Given the description of an element on the screen output the (x, y) to click on. 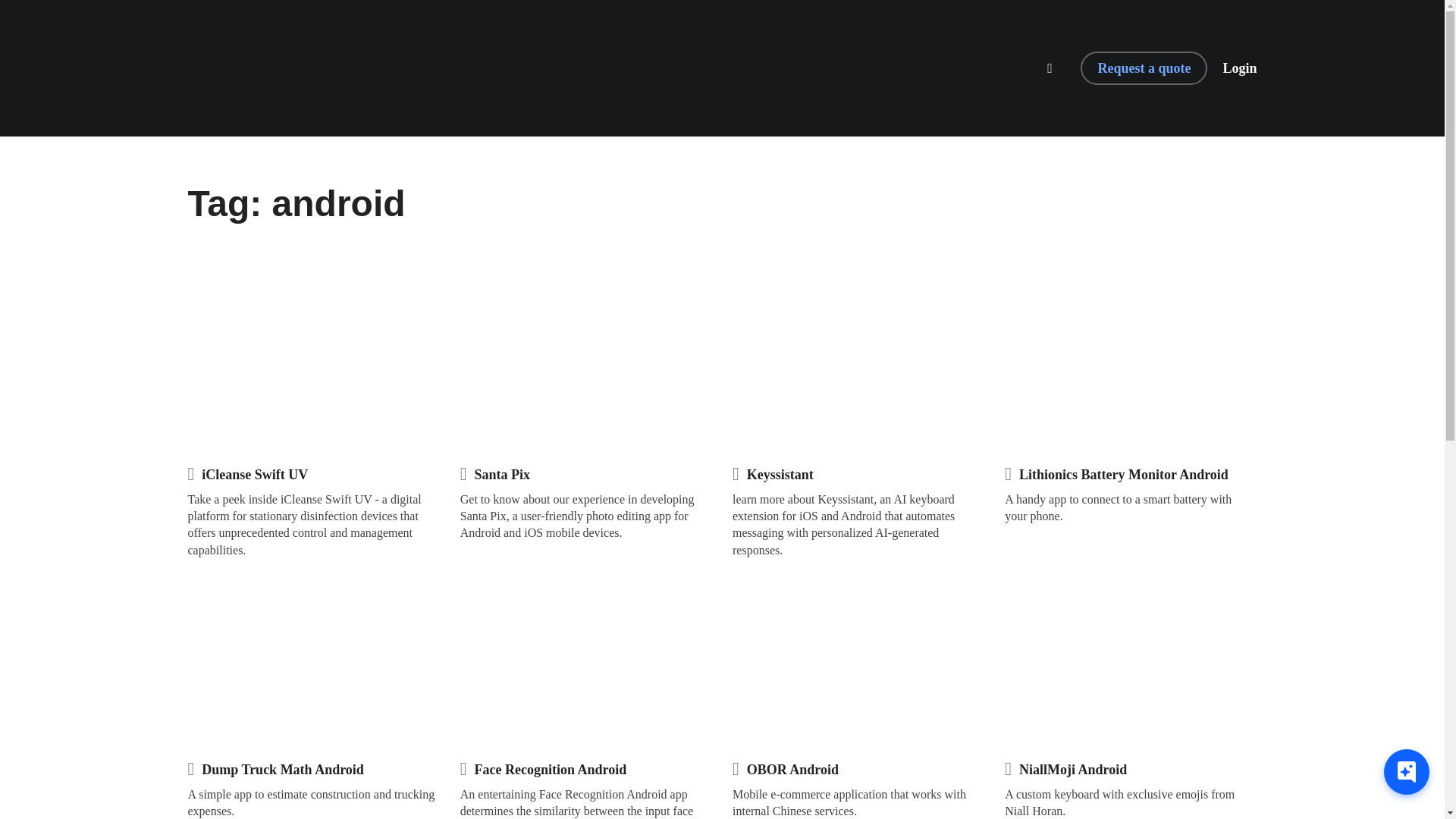
NiallMoji Android (1072, 770)
Keyssistant (779, 475)
Lithionics Battery Monitor Android (1123, 475)
Login (1239, 68)
Face Recognition Android (550, 770)
Dump Truck Math Android (283, 770)
Request a quote (1143, 68)
Santa Pix (502, 475)
iCleanse Swift UV (254, 475)
OBOR Android (792, 770)
